Given the description of an element on the screen output the (x, y) to click on. 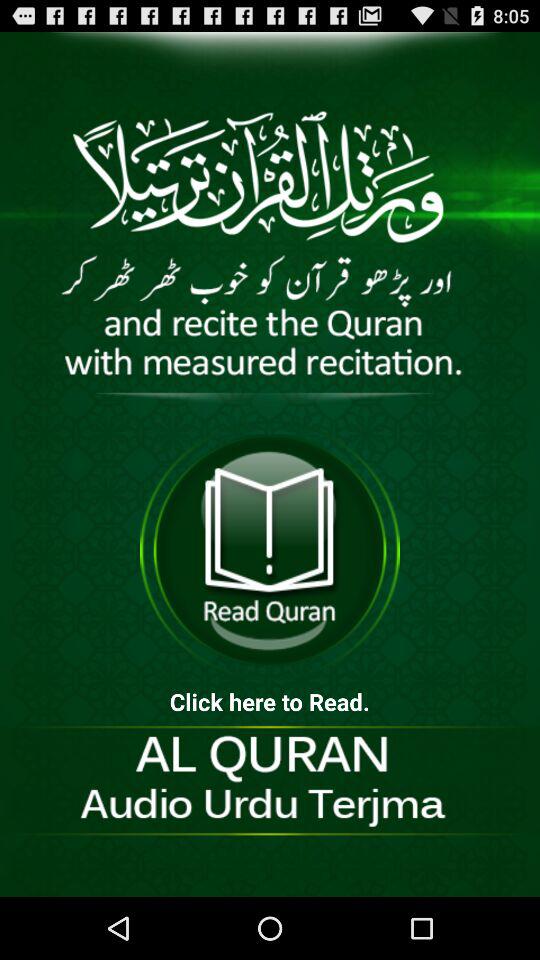
open ebook (270, 550)
